Given the description of an element on the screen output the (x, y) to click on. 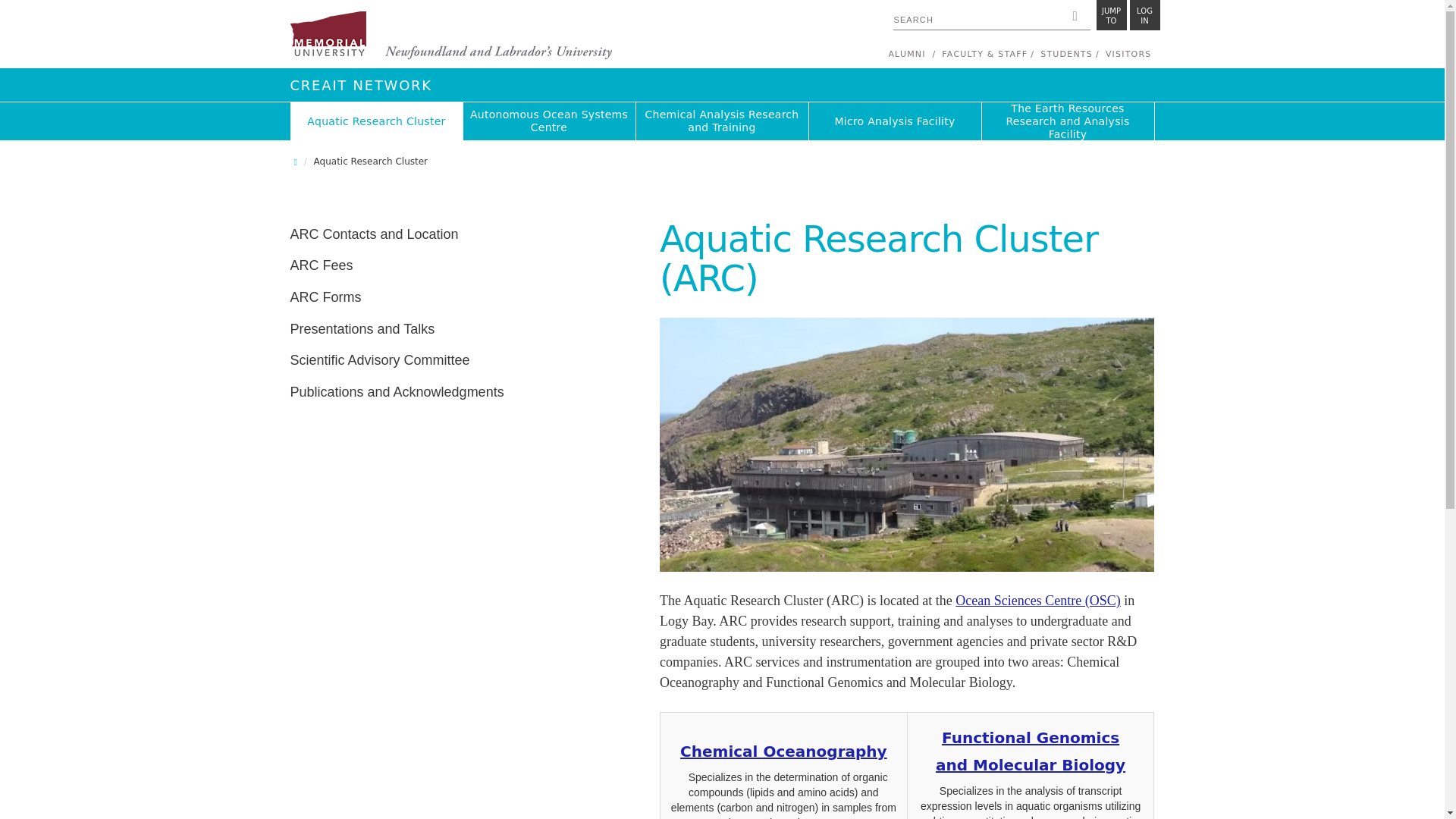
Memorial University of Newfoundland (450, 35)
Memorial University (450, 35)
JUMP TO (1144, 15)
